Given the description of an element on the screen output the (x, y) to click on. 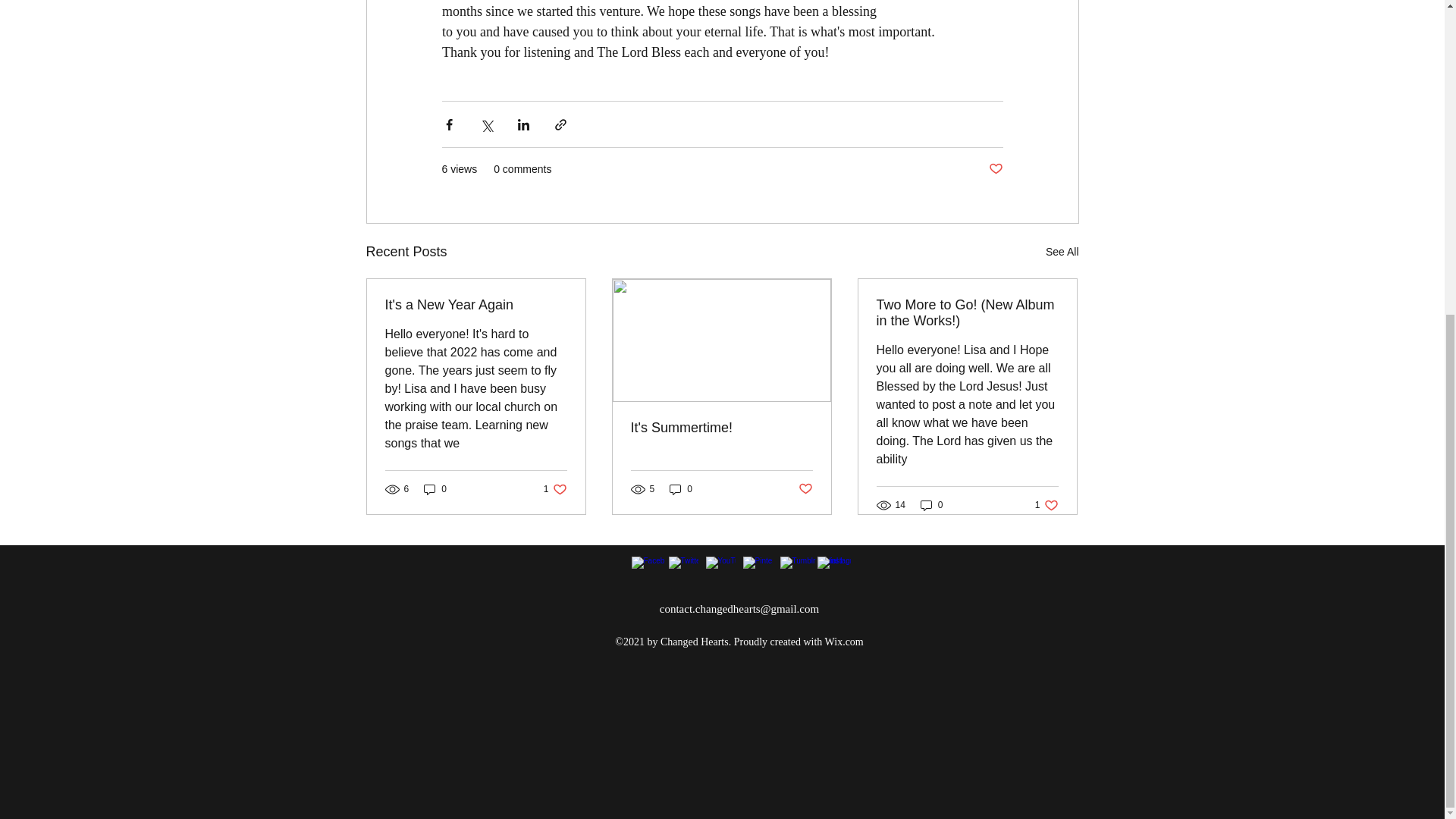
It's a New Year Again (476, 304)
0 (681, 489)
0 (435, 489)
Post not marked as liked (995, 169)
0 (931, 504)
It's Summertime! (721, 427)
Post not marked as liked (804, 489)
See All (1061, 251)
